Given the description of an element on the screen output the (x, y) to click on. 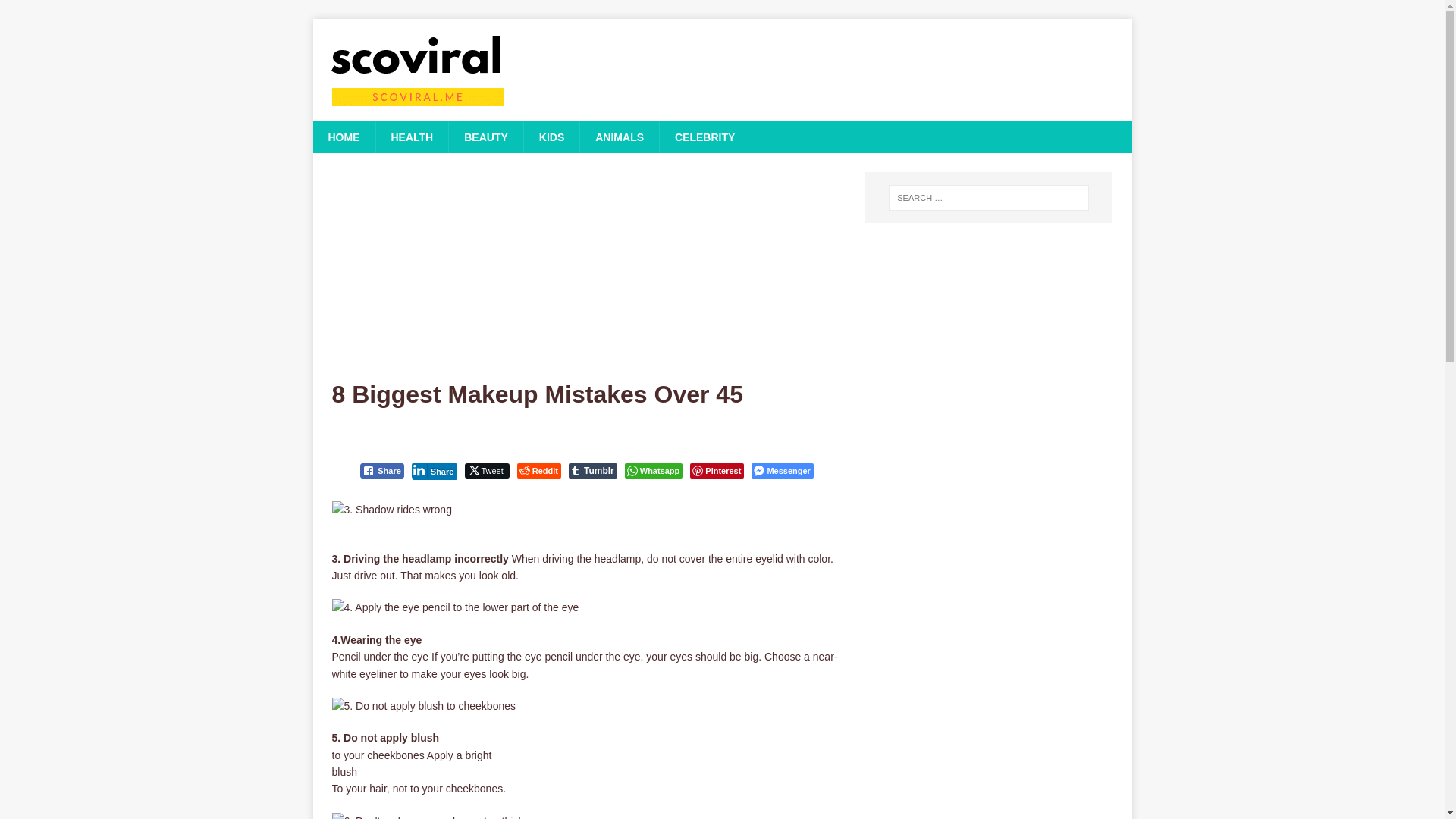
HOME (343, 137)
Whatsapp (653, 470)
Share (435, 470)
Search (56, 11)
Share (381, 470)
Tweet (486, 470)
Tumblr (593, 470)
HEALTH (411, 137)
ANIMALS (619, 137)
BEAUTY (485, 137)
KIDS (550, 137)
Reddit (538, 470)
Pinterest (717, 470)
Messenger (781, 470)
CELEBRITY (704, 137)
